Given the description of an element on the screen output the (x, y) to click on. 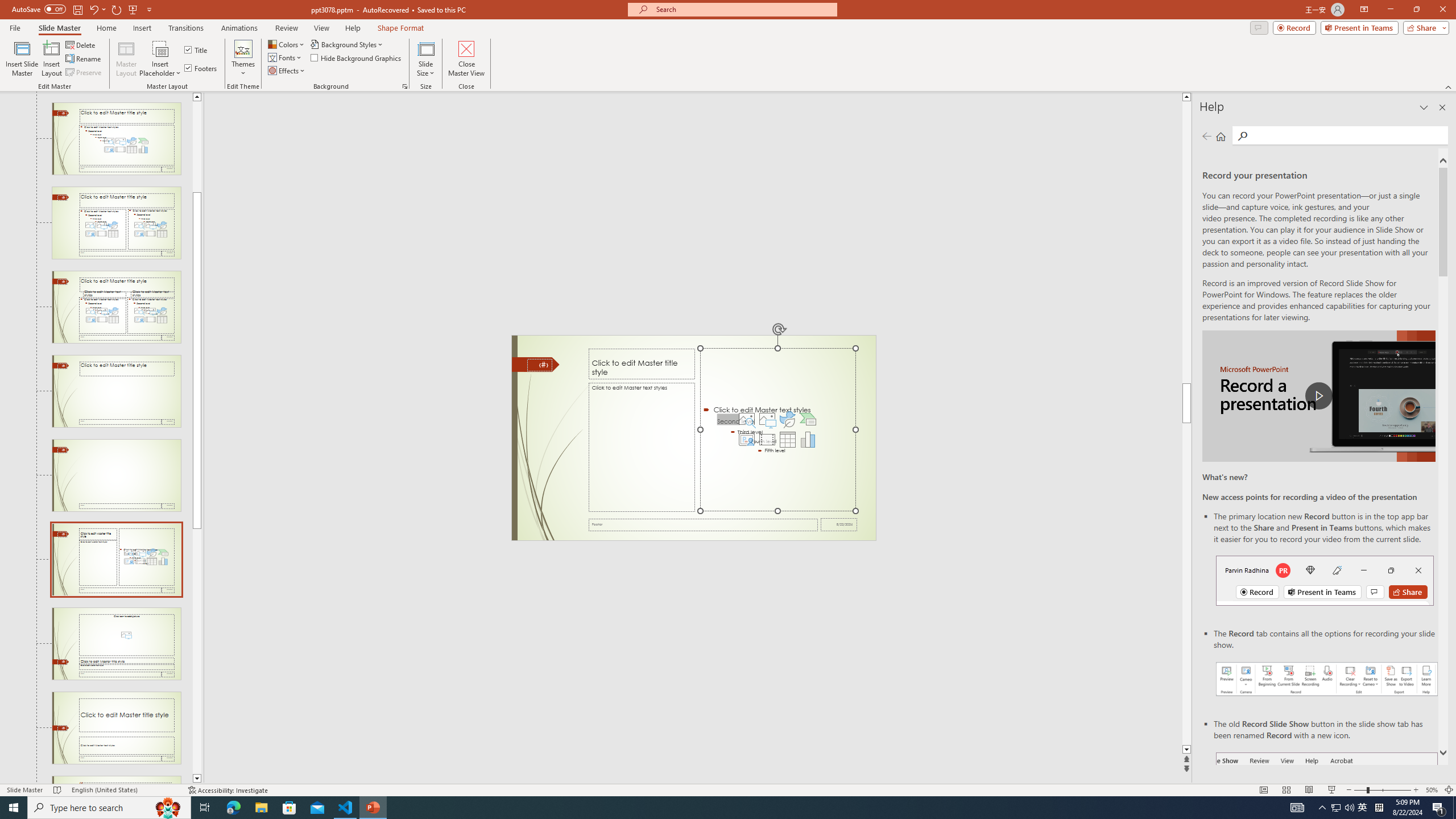
Date (839, 524)
Title TextBox (641, 363)
Record (1294, 27)
Slide Two Content Layout: used by no slides (116, 222)
Close (1442, 9)
Insert a SmartArt Graphic (807, 419)
Reading View (1308, 790)
Search (1241, 136)
Minimize (1390, 9)
Slide Title and Content Layout: used by no slides (116, 138)
Colors (287, 44)
Task Pane Options (1423, 107)
Pictures (767, 419)
Zoom 50% (1431, 790)
Slide Quote with Caption Layout: used by no slides (116, 779)
